Given the description of an element on the screen output the (x, y) to click on. 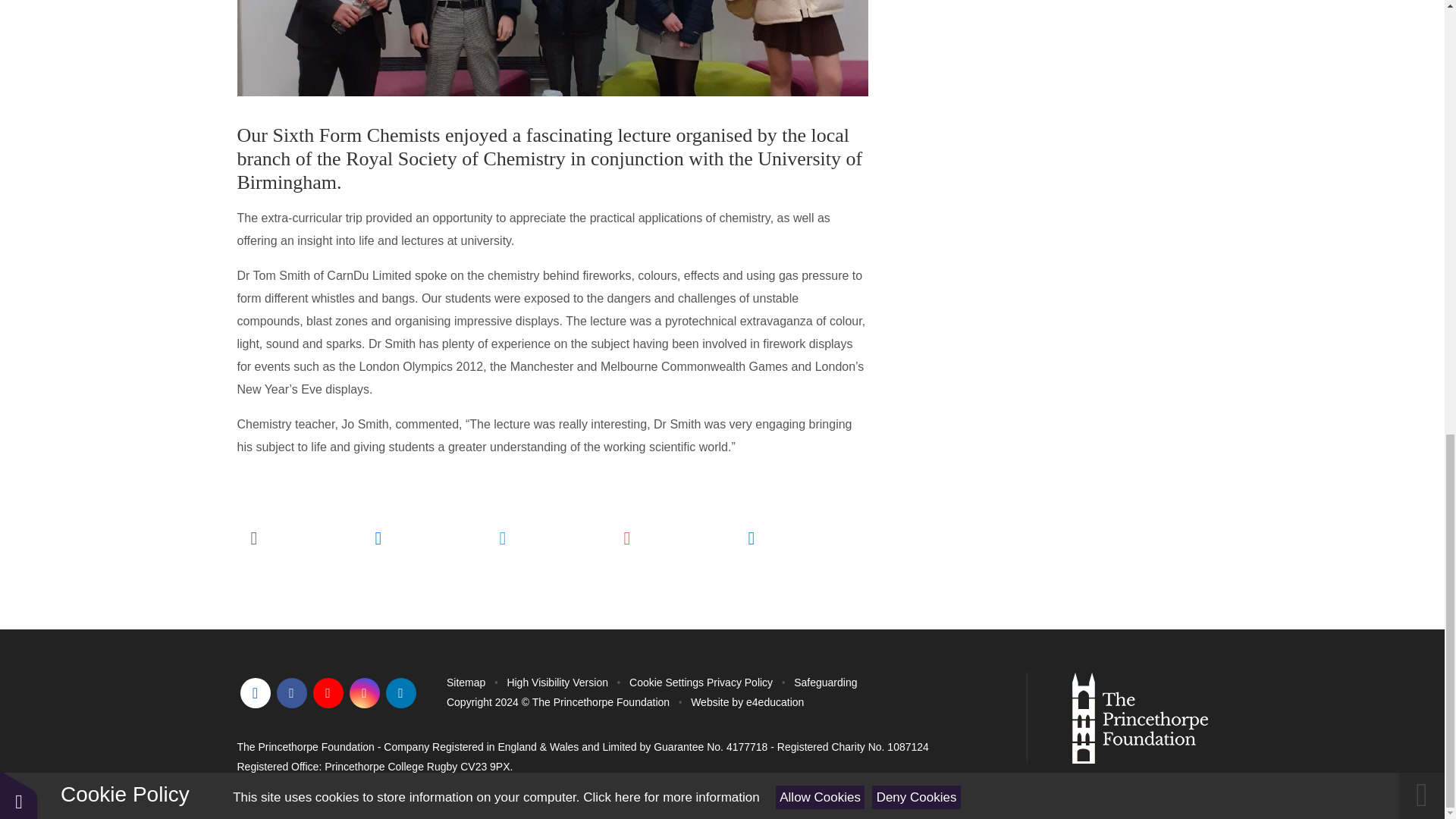
Cookie Settings (665, 682)
